Given the description of an element on the screen output the (x, y) to click on. 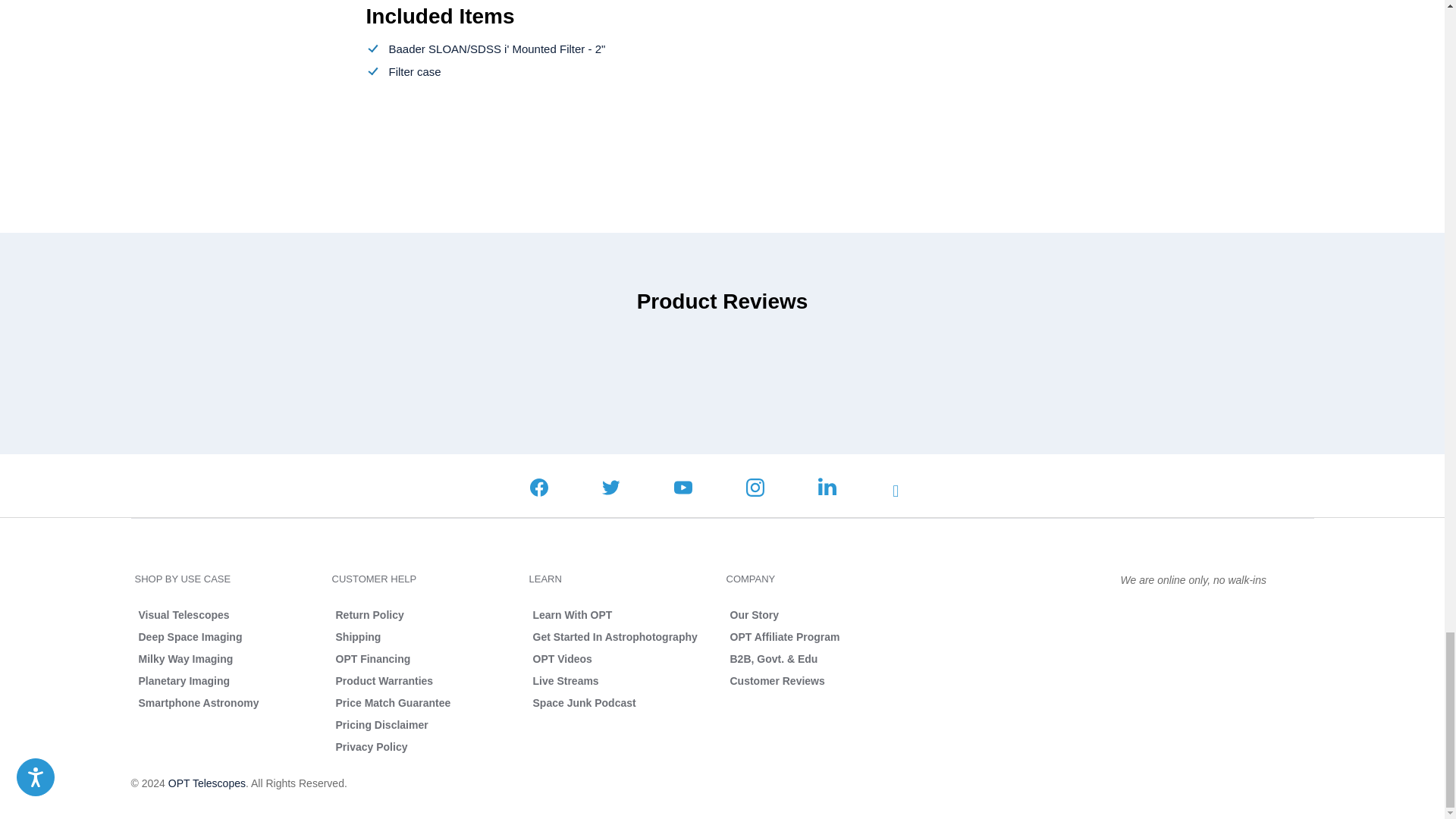
OPT Telescopes on Pinterest (900, 491)
